Given the description of an element on the screen output the (x, y) to click on. 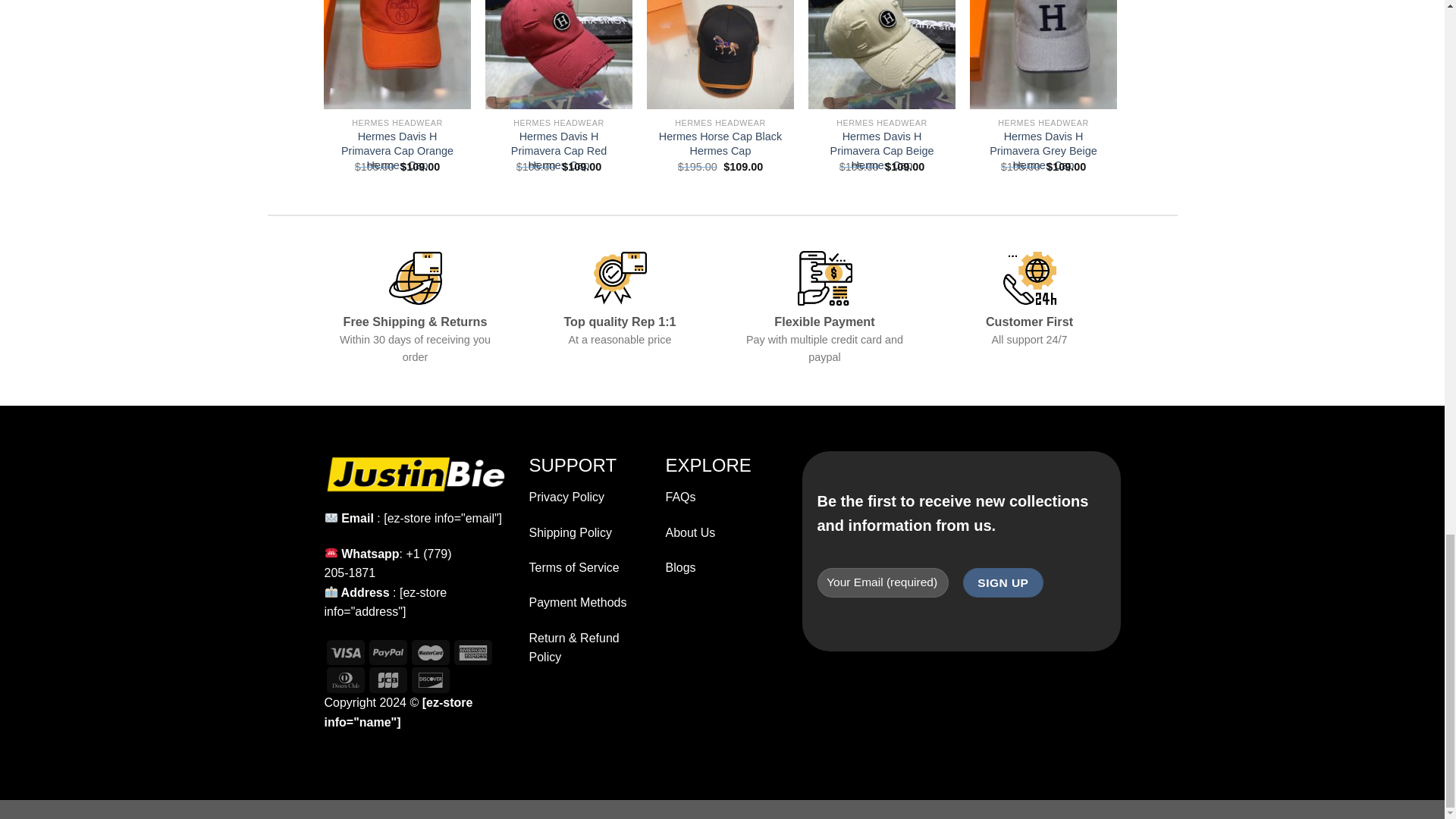
Sign Up (1002, 582)
